Given the description of an element on the screen output the (x, y) to click on. 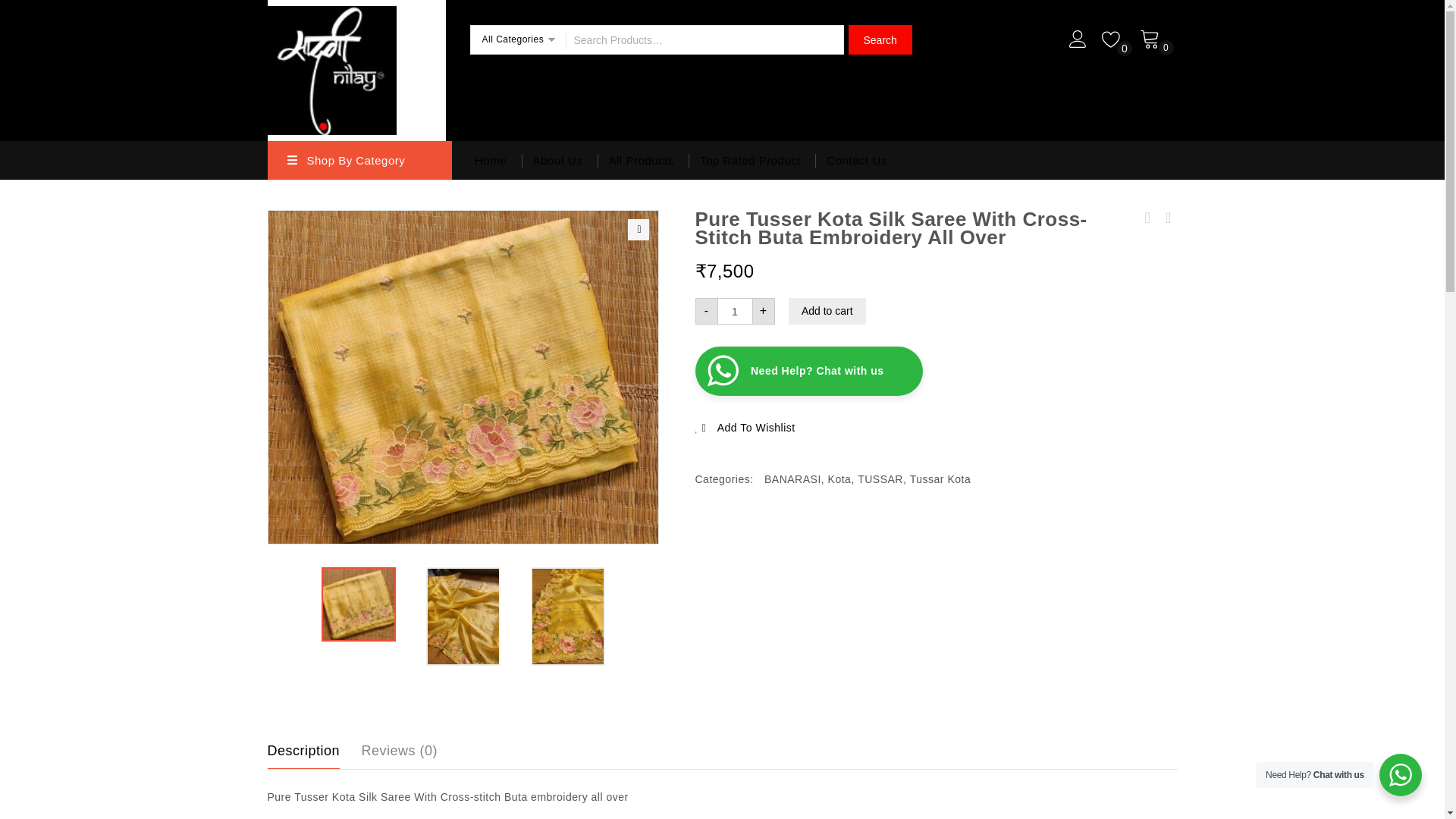
Top Rated Product (750, 159)
Home (484, 159)
Contact Us (856, 159)
Search (879, 39)
Search for: (704, 39)
Search (879, 39)
1 (734, 311)
e3ed7221-952e-4a9c-8920-5b6687c511ab (462, 376)
About Us (557, 159)
All Products (640, 159)
SaadgeeNilay (331, 68)
